Given the description of an element on the screen output the (x, y) to click on. 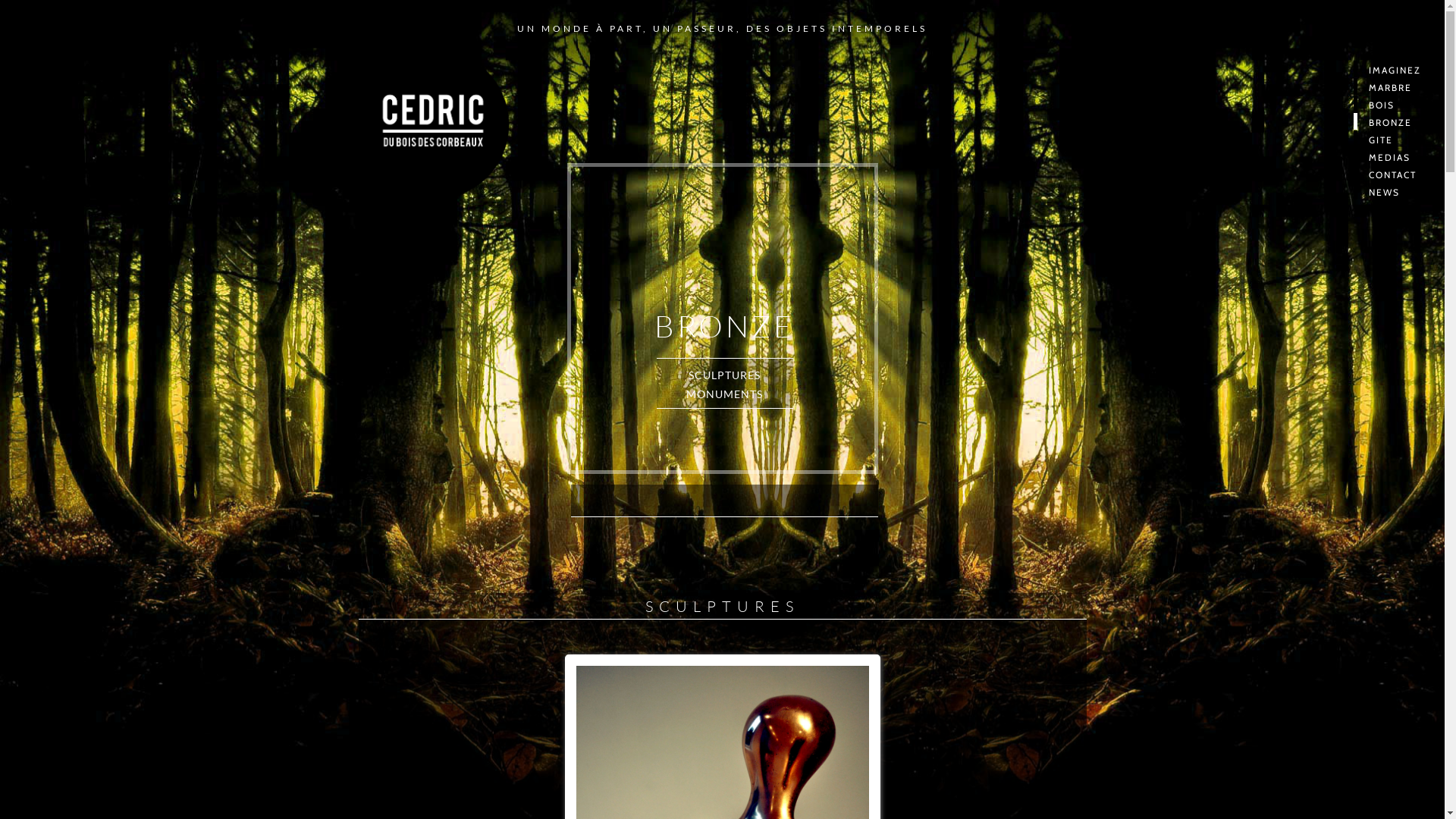
MONUMENTS Element type: text (724, 393)
CONTACT Element type: text (1398, 173)
BOIS Element type: text (1398, 103)
MARBRE Element type: text (1398, 86)
GITE Element type: text (1398, 138)
MEDIAS Element type: text (1398, 155)
SCULPTURES Element type: text (724, 374)
BRONZE Element type: text (1398, 120)
IMAGINEZ Element type: text (1398, 68)
NEWS Element type: text (1398, 190)
